Given the description of an element on the screen output the (x, y) to click on. 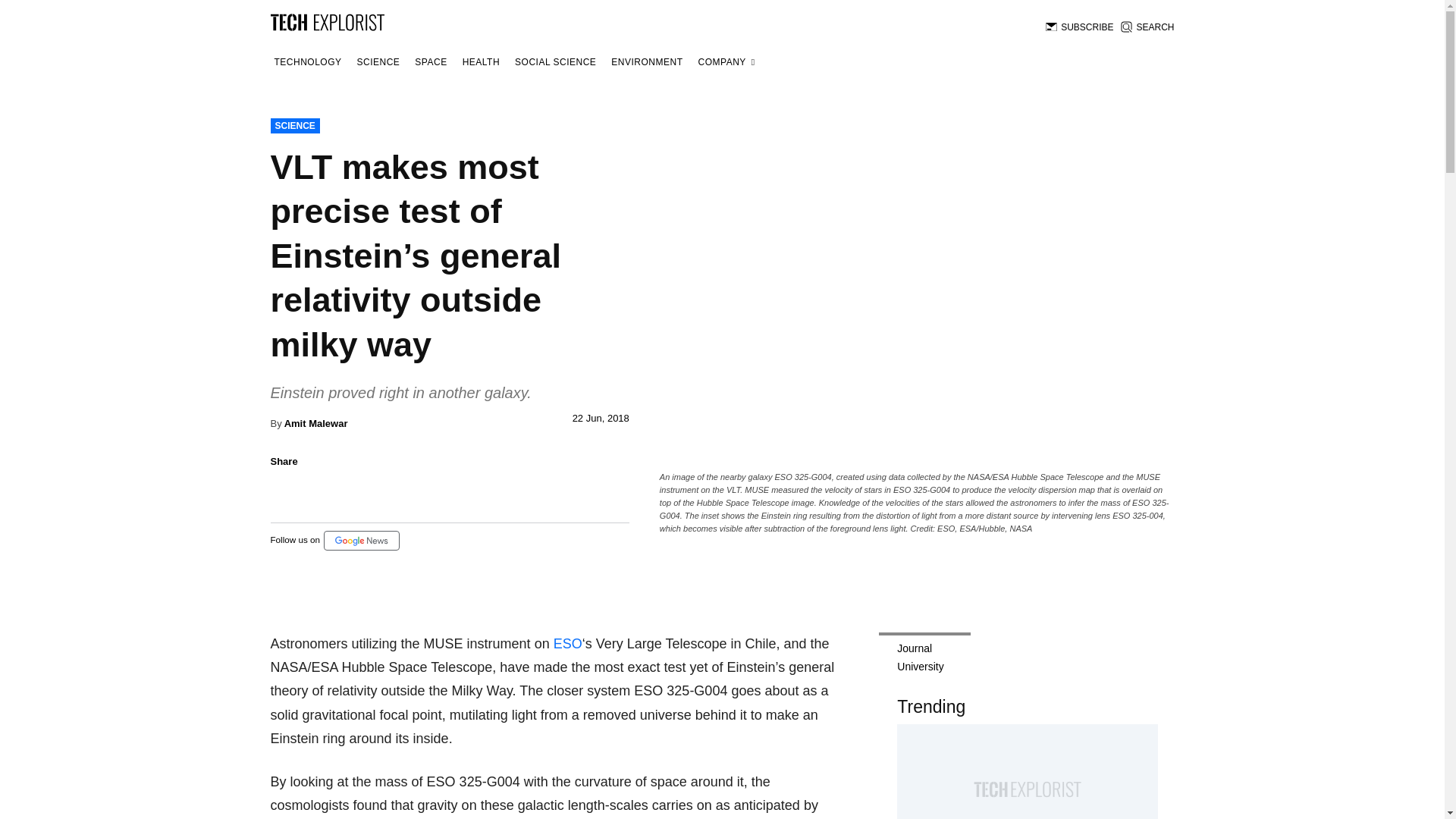
Amit Malewar (315, 423)
SCIENCE (293, 125)
ENVIRONMENT (646, 62)
HEALTH (480, 62)
SUBSCRIBE (1079, 26)
SOCIAL SCIENCE (555, 62)
TECHNOLOGY (307, 62)
SEARCH (1147, 26)
Tech Explorist (326, 21)
SUBSCRIBE (1079, 26)
COMPANY (726, 62)
SPACE (429, 62)
Technology (307, 62)
SCIENCE (378, 62)
